Given the description of an element on the screen output the (x, y) to click on. 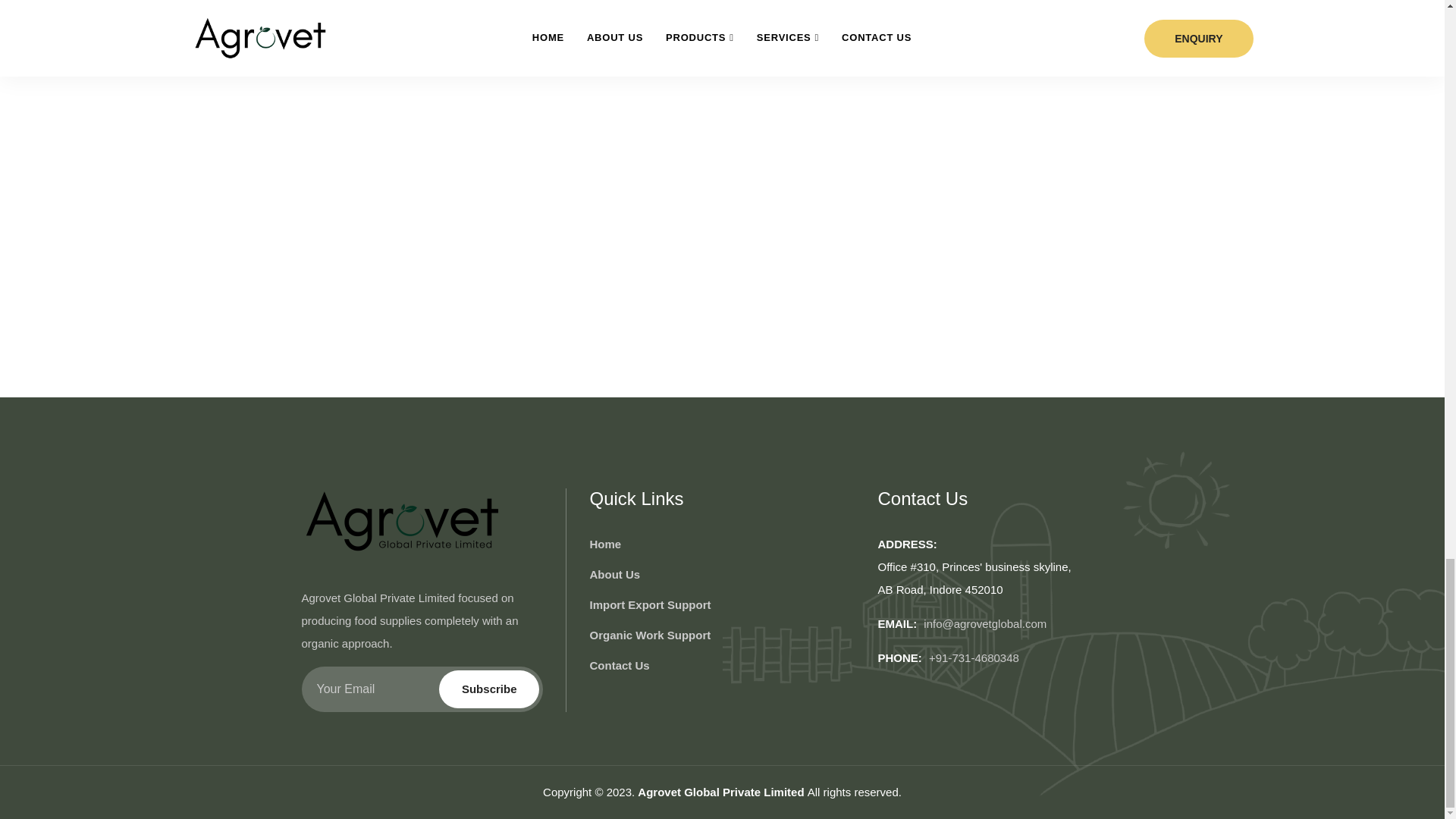
Contact Us (619, 665)
Home (605, 544)
Organic Work Support (649, 635)
Subscribe (489, 689)
Import Export Support (649, 604)
Agrovet Global Private Limited (721, 791)
About Us (614, 574)
